Given the description of an element on the screen output the (x, y) to click on. 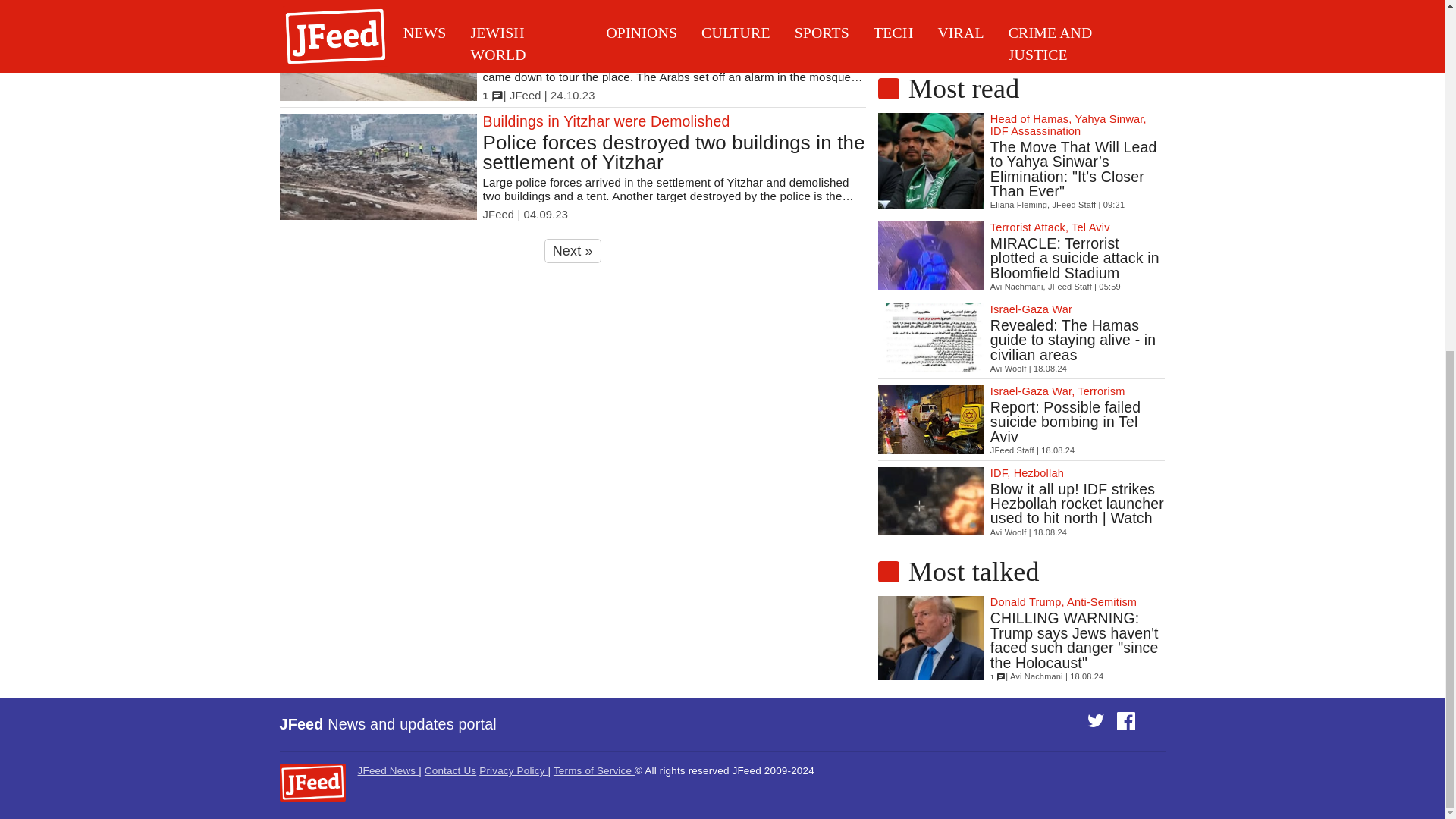
Twitter (1097, 724)
Facebook (1128, 724)
Report: Possible failed suicide bombing in Tel Aviv (1078, 422)
Hamas Announces Rejection of New Proposal (1078, 21)
News and updates portal (411, 723)
